Given the description of an element on the screen output the (x, y) to click on. 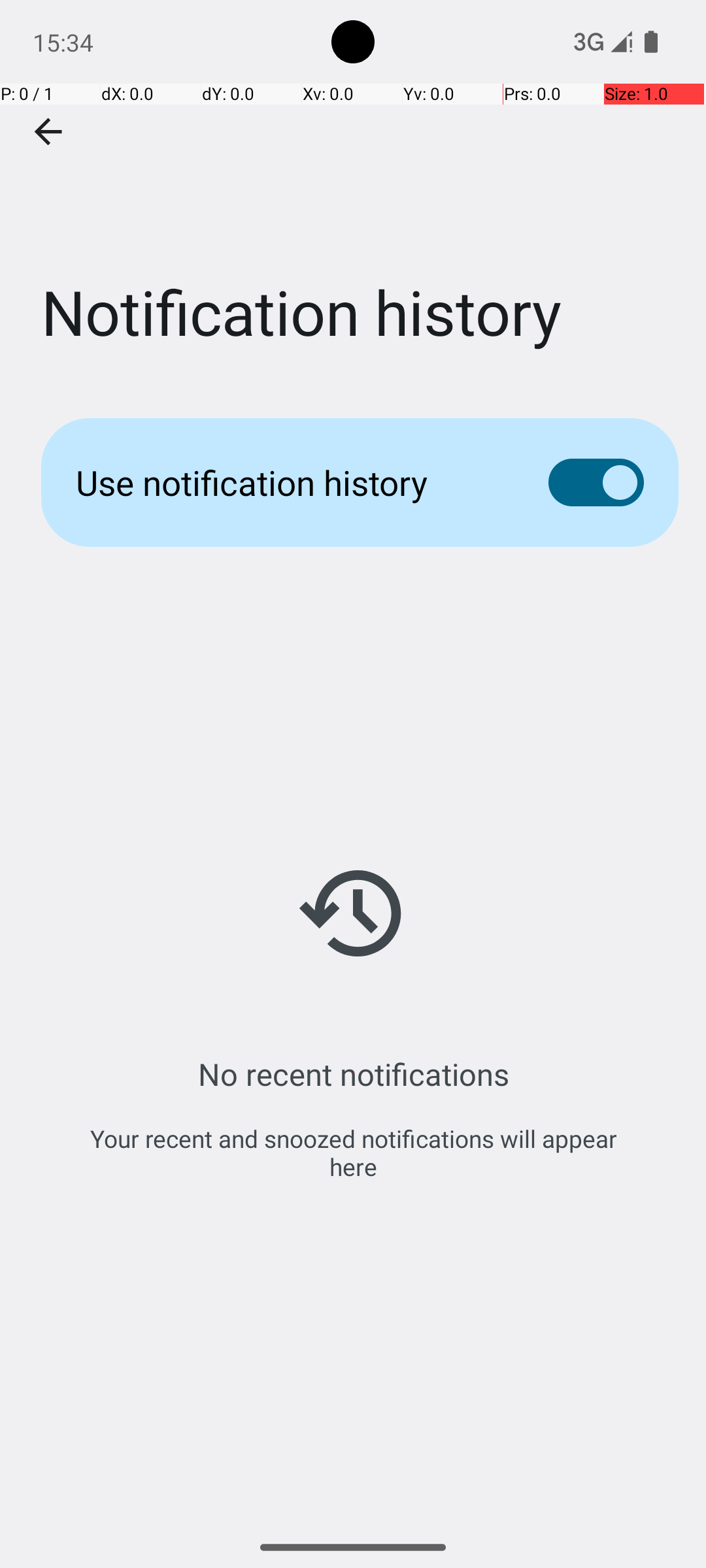
Notification history Element type: android.widget.FrameLayout (353, 195)
No recent notifications Element type: android.widget.TextView (352, 1073)
Your recent and snoozed notifications will appear here Element type: android.widget.TextView (352, 1152)
Use notification history Element type: android.widget.TextView (291, 482)
